Given the description of an element on the screen output the (x, y) to click on. 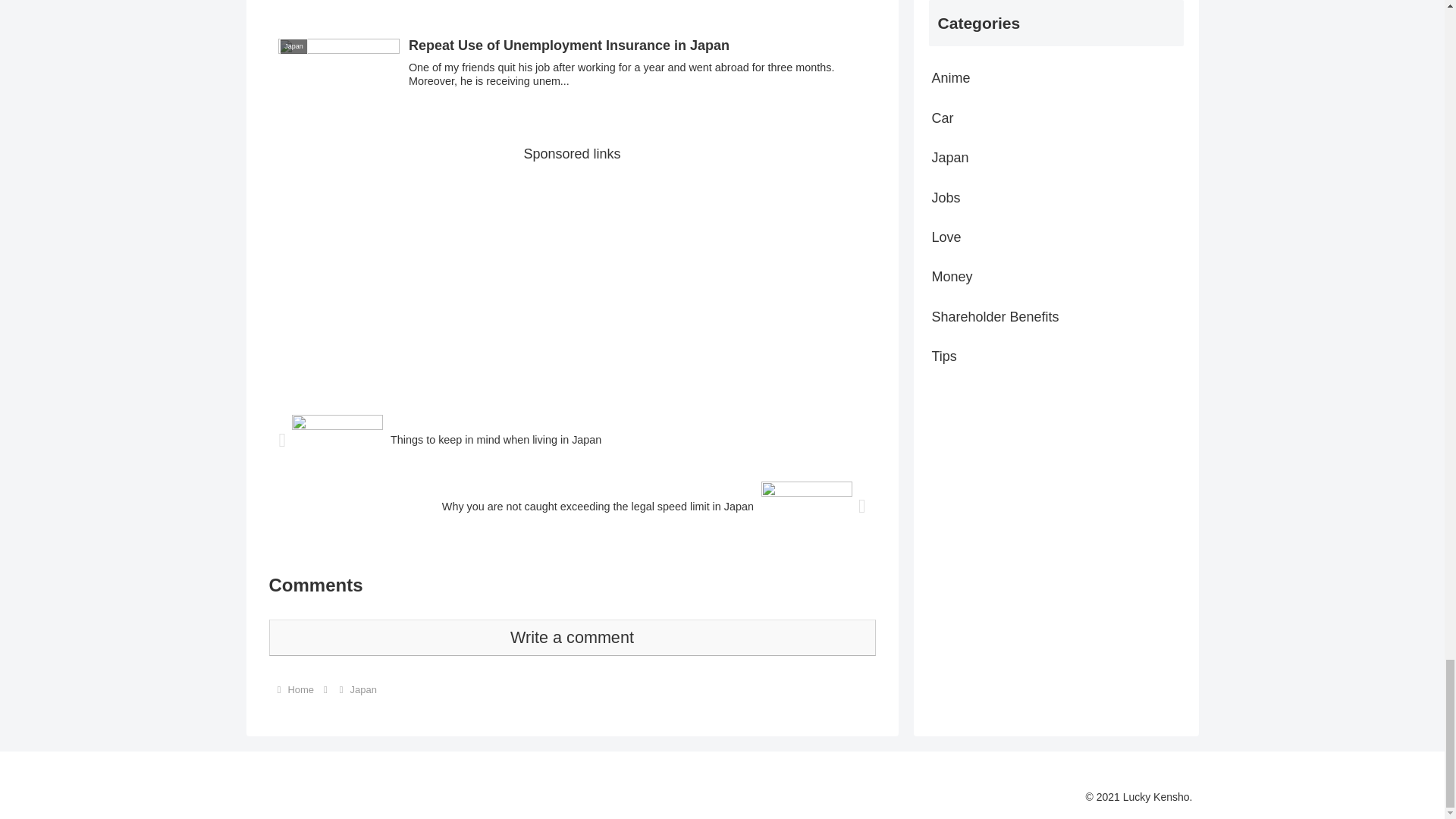
Things to keep in mind when living in Japan (571, 440)
Things to keep in mind when living in Japan (571, 440)
Middle-Aged Parasite Singles in Japan (571, 7)
Repeat Use of Unemployment Insurance in Japan (571, 69)
Write a comment (571, 637)
Home (300, 689)
Japan (362, 689)
